Given the description of an element on the screen output the (x, y) to click on. 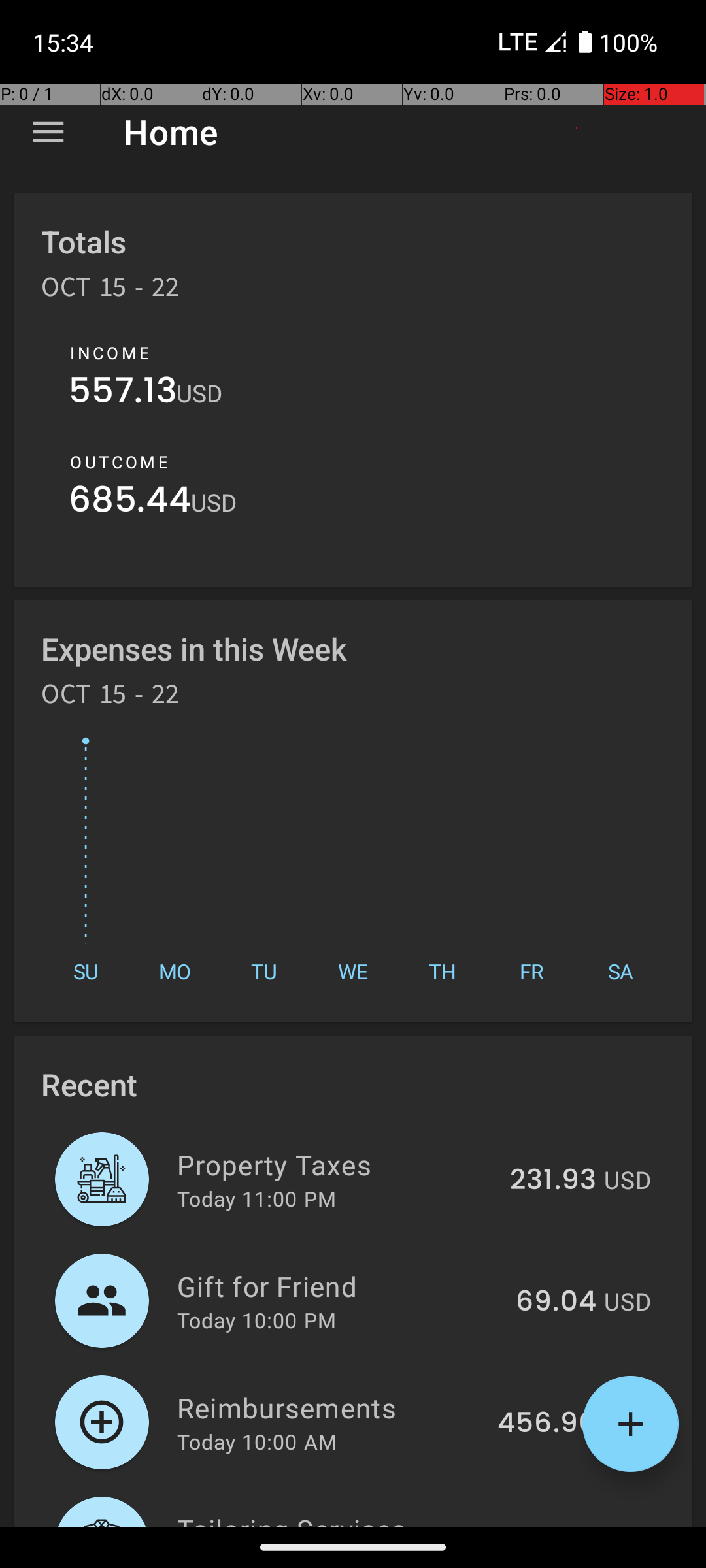
557.13 Element type: android.widget.TextView (122, 393)
685.44 Element type: android.widget.TextView (129, 502)
Property Taxes Element type: android.widget.TextView (335, 1164)
Today 11:00 PM Element type: android.widget.TextView (256, 1198)
231.93 Element type: android.widget.TextView (552, 1180)
Gift for Friend Element type: android.widget.TextView (338, 1285)
Today 10:00 PM Element type: android.widget.TextView (256, 1320)
69.04 Element type: android.widget.TextView (555, 1301)
Reimbursements Element type: android.widget.TextView (329, 1407)
Today 10:00 AM Element type: android.widget.TextView (256, 1441)
456.96 Element type: android.widget.TextView (546, 1423)
Tailoring Services Element type: android.widget.TextView (343, 1518)
31.54 Element type: android.widget.TextView (560, 1524)
